Given the description of an element on the screen output the (x, y) to click on. 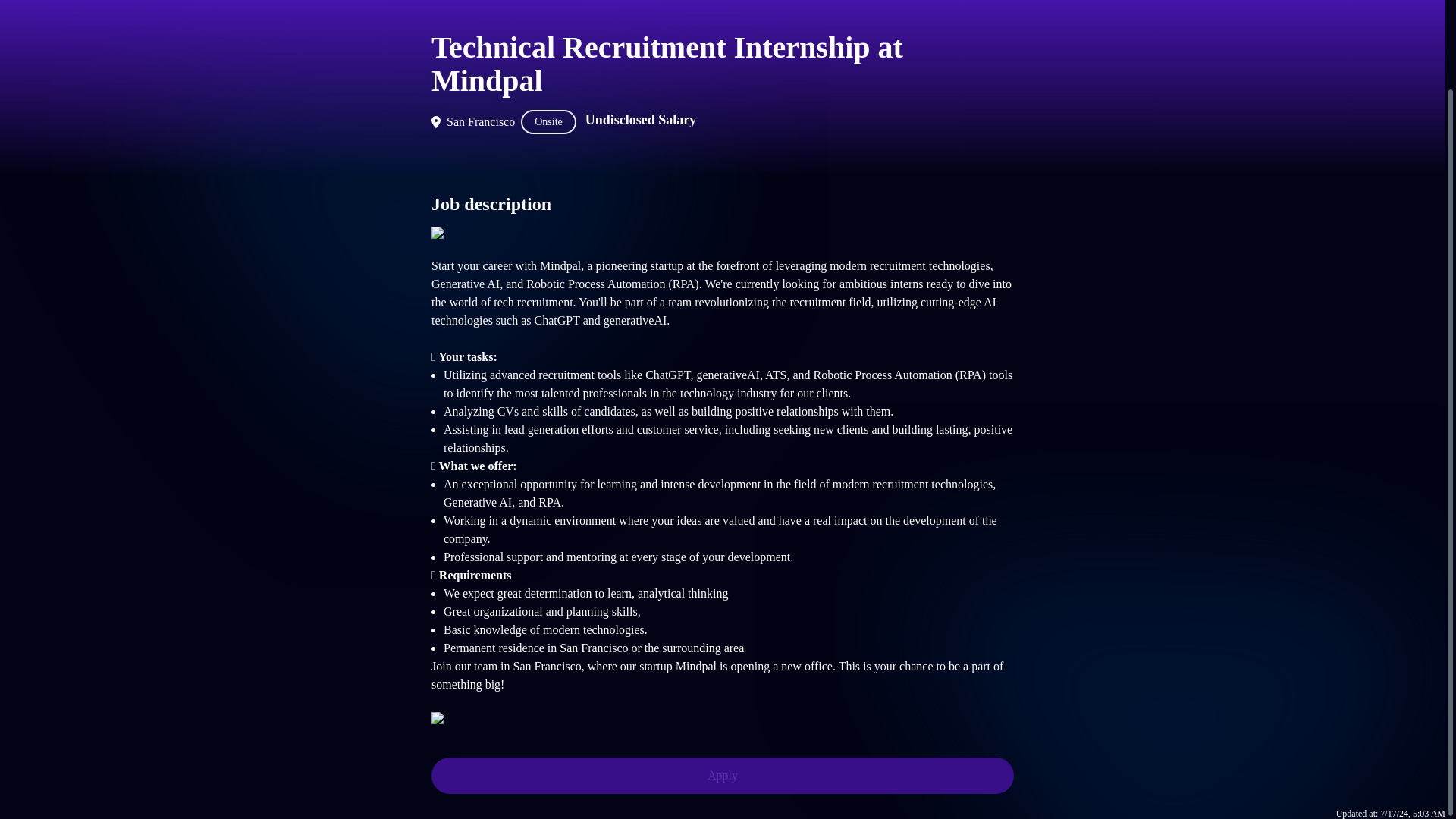
Apply (721, 775)
